Given the description of an element on the screen output the (x, y) to click on. 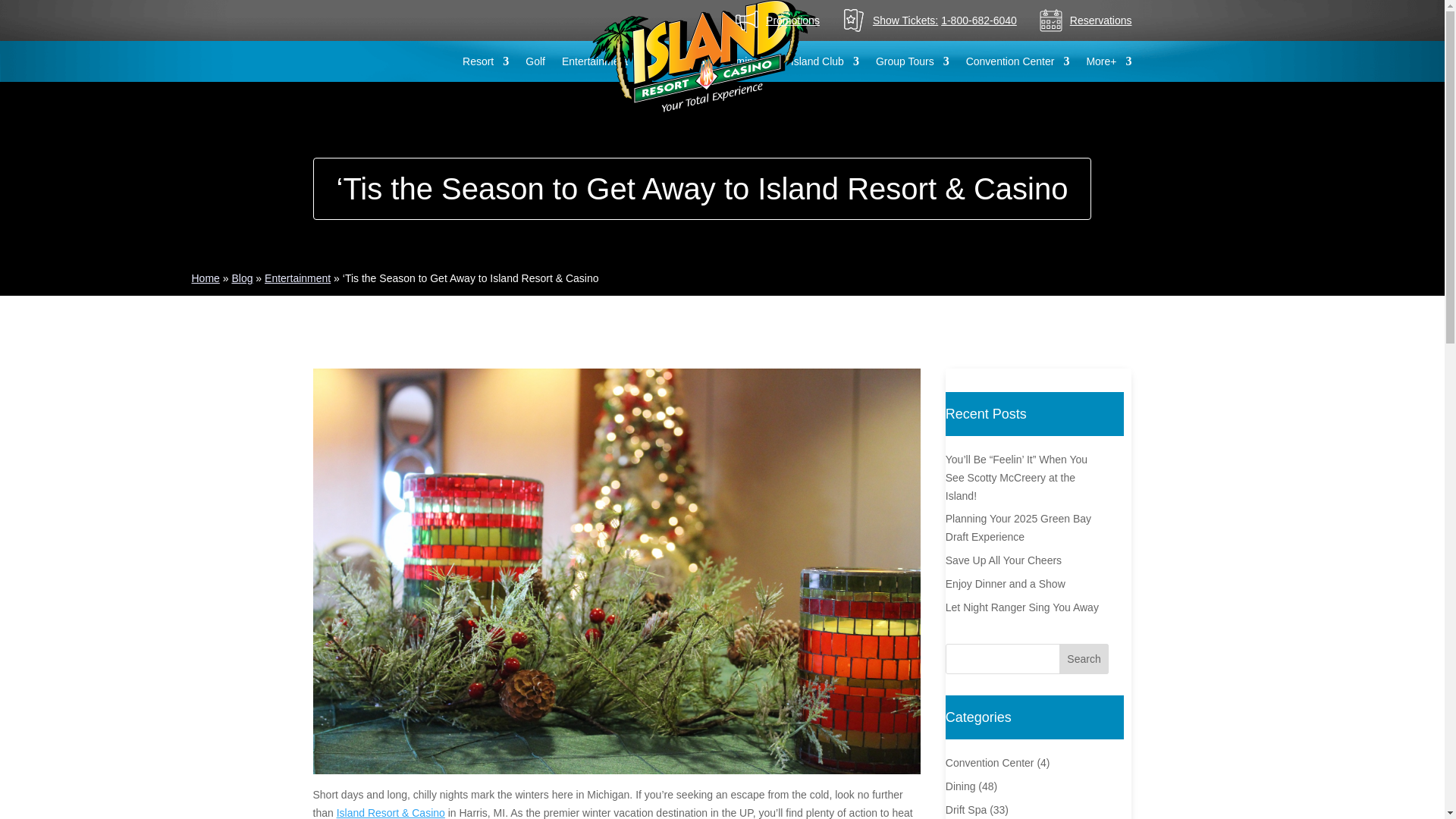
Reservations (1101, 20)
Gaming (748, 60)
Show Tickets: (904, 20)
Dining (681, 60)
Island Total Logo WEB ICON (702, 56)
Resort (485, 60)
1-800-682-6040 (978, 20)
Entertainment (602, 60)
Promotions (792, 20)
Search (1084, 658)
